Given the description of an element on the screen output the (x, y) to click on. 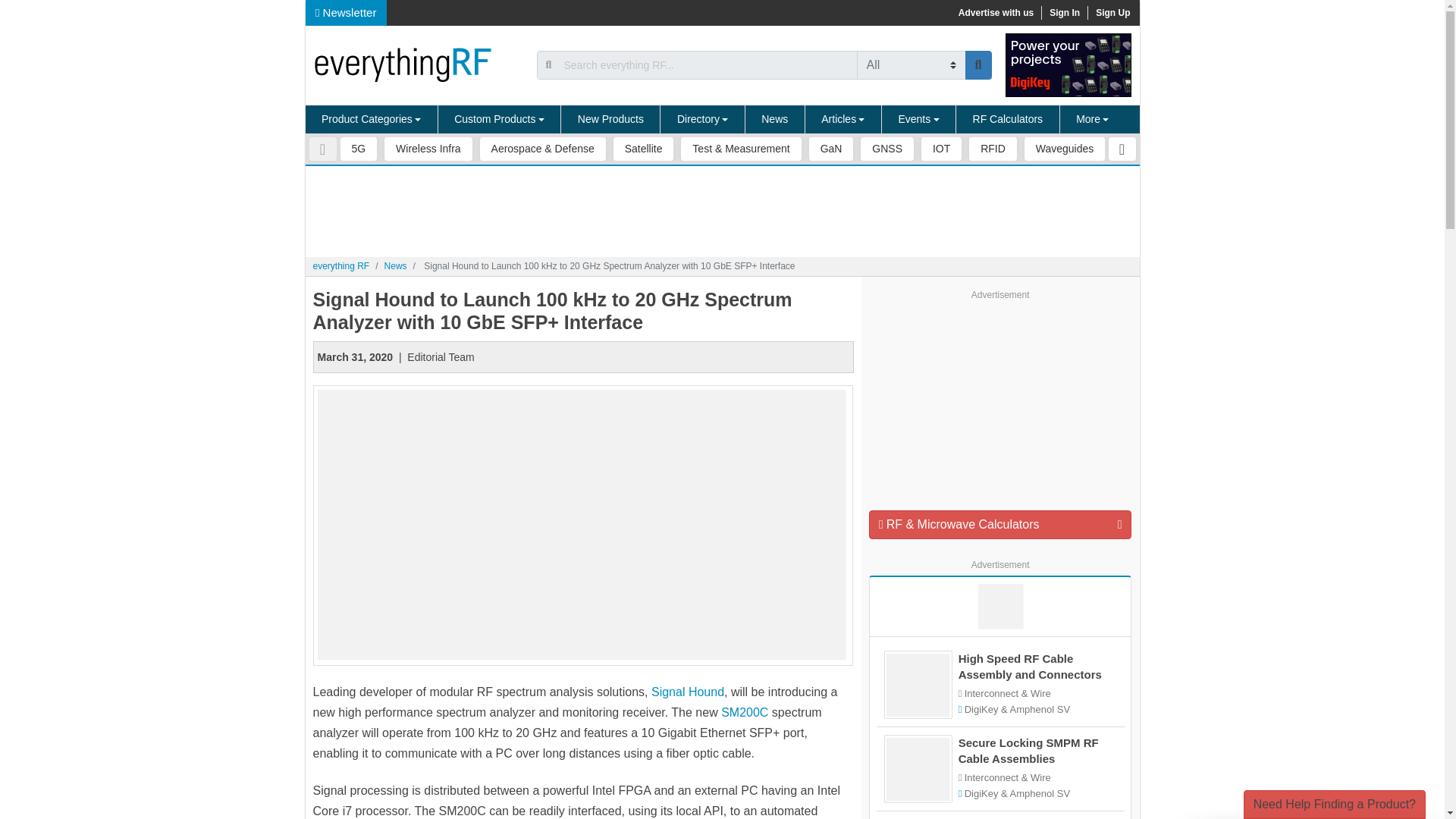
Sign In (1064, 12)
Newsletter (345, 12)
Sign Up (1112, 12)
Product Categories (371, 119)
High Speed RF Cable Assembly and Connectors (1036, 666)
Advertise with us (995, 12)
Secure Locking SMPM RF Cable Assemblies (1036, 750)
